Given the description of an element on the screen output the (x, y) to click on. 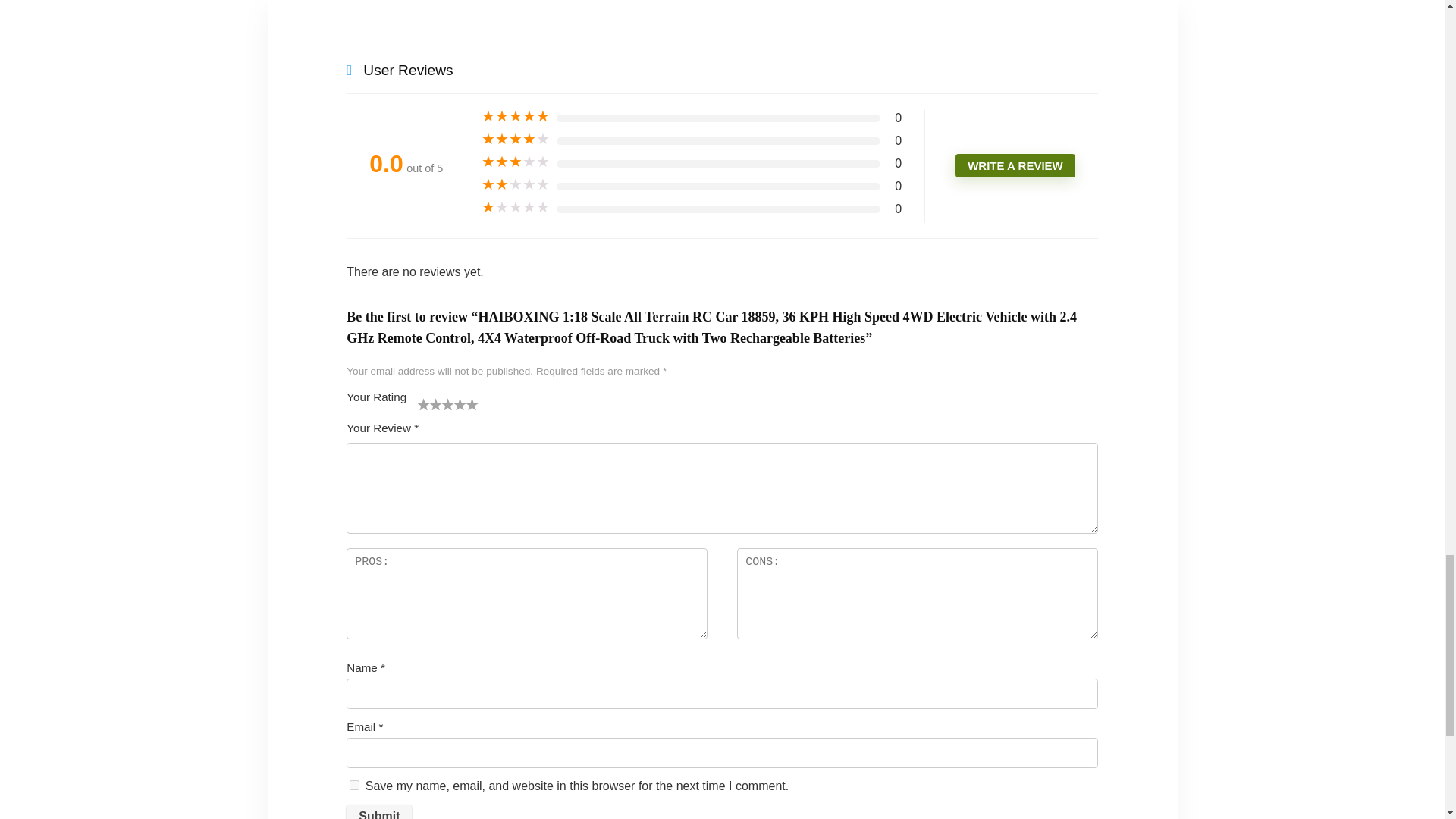
Rated 4 out of 5 (515, 139)
yes (354, 785)
Rated 3 out of 5 (515, 161)
Rated 5 out of 5 (515, 116)
WRITE A REVIEW (1015, 165)
Rated 2 out of 5 (515, 184)
Submit (379, 811)
